Given the description of an element on the screen output the (x, y) to click on. 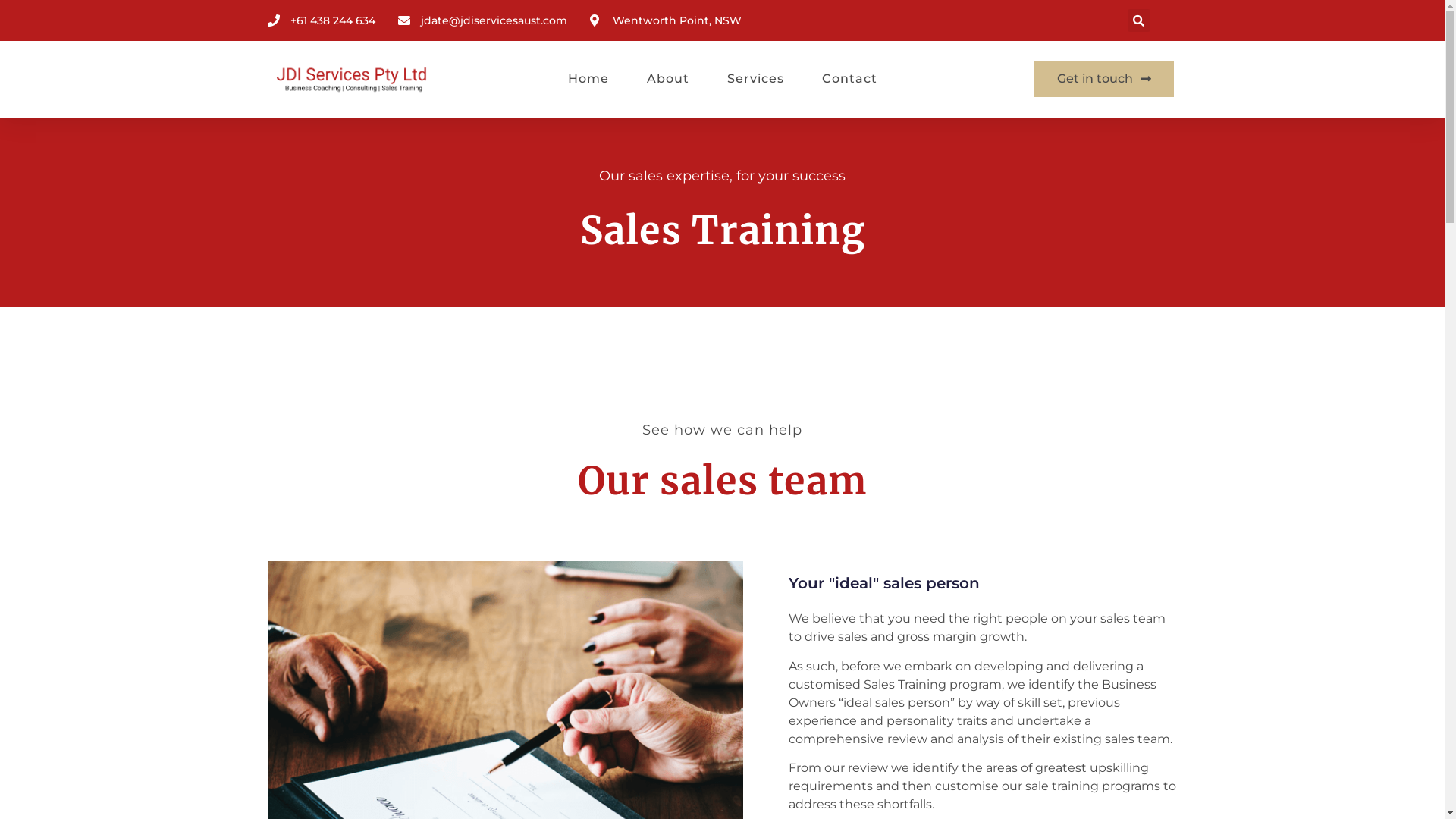
Services Element type: text (754, 78)
Get in touch Element type: text (1103, 79)
Contact Element type: text (849, 78)
Home Element type: text (587, 78)
+61 438 244 634 Element type: text (320, 20)
About Element type: text (667, 78)
jdate@jdiservicesaust.com Element type: text (481, 20)
